Given the description of an element on the screen output the (x, y) to click on. 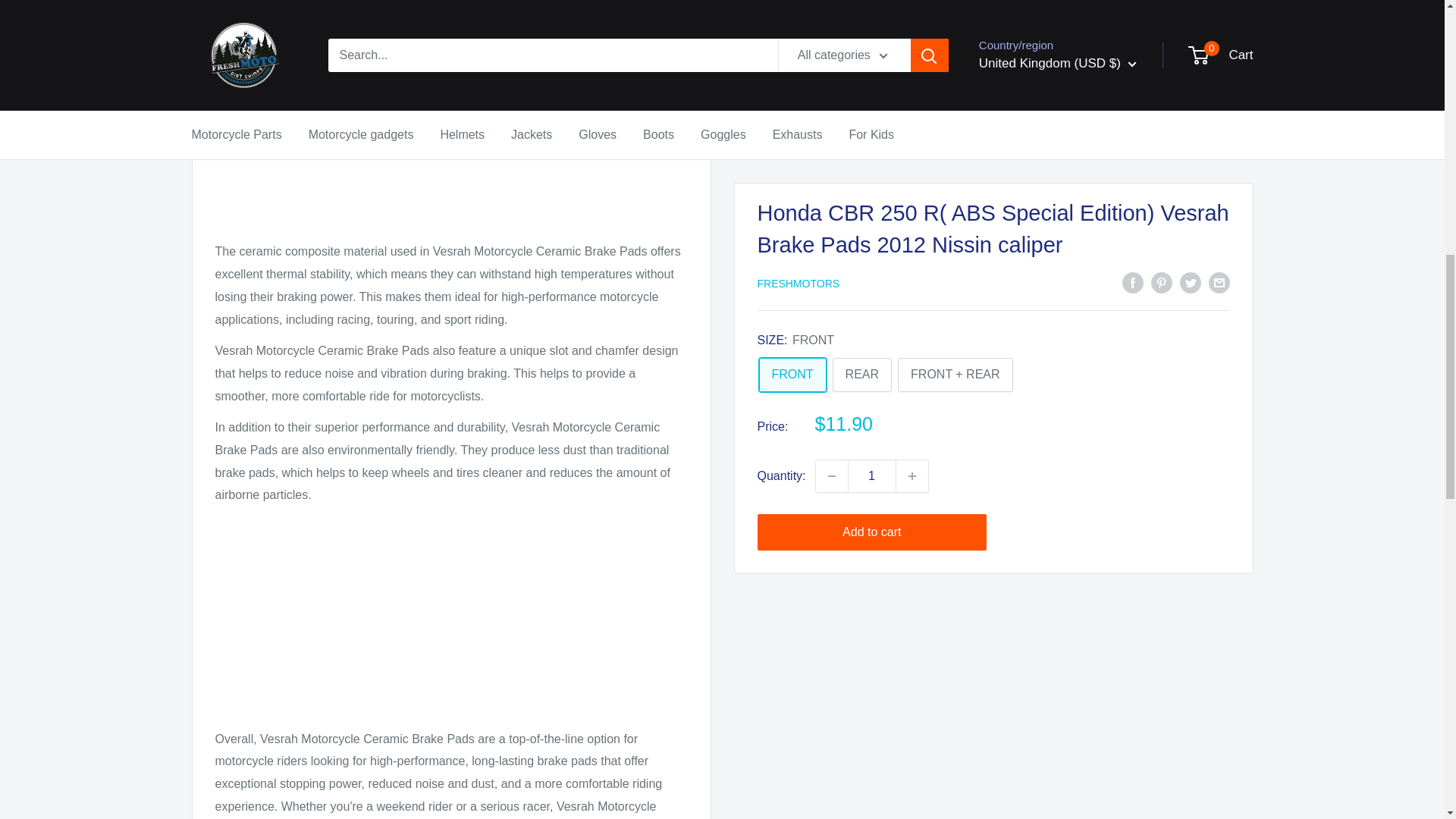
Advertisement (451, 133)
Advertisement (451, 621)
